Given the description of an element on the screen output the (x, y) to click on. 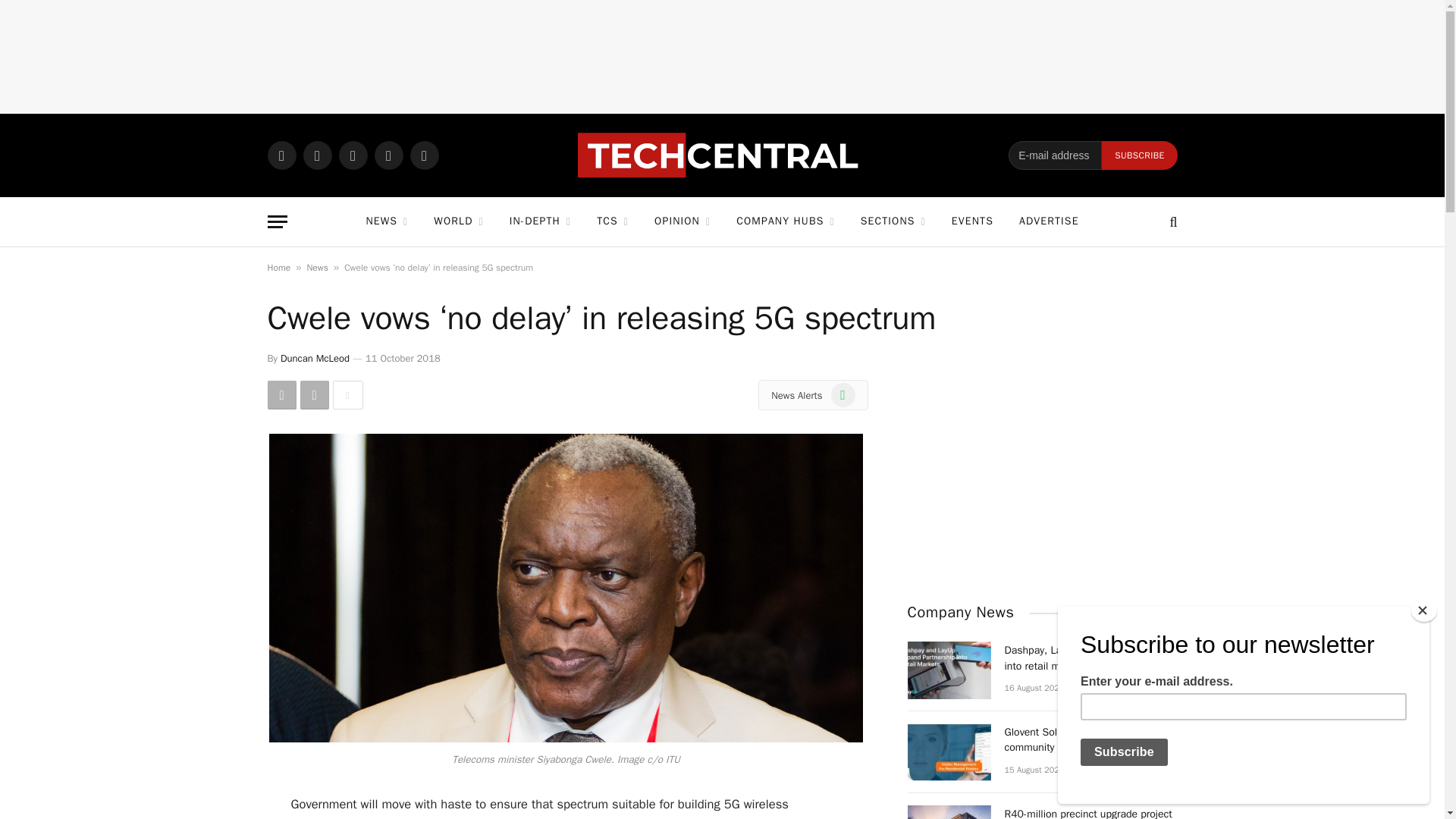
3rd party ad content (722, 56)
Facebook (316, 154)
TechCentral (722, 155)
LinkedIn (388, 154)
WORLD (458, 221)
NEWS (386, 221)
Subscribe (1139, 154)
YouTube (423, 154)
IN-DEPTH (539, 221)
Subscribe (1139, 154)
